Given the description of an element on the screen output the (x, y) to click on. 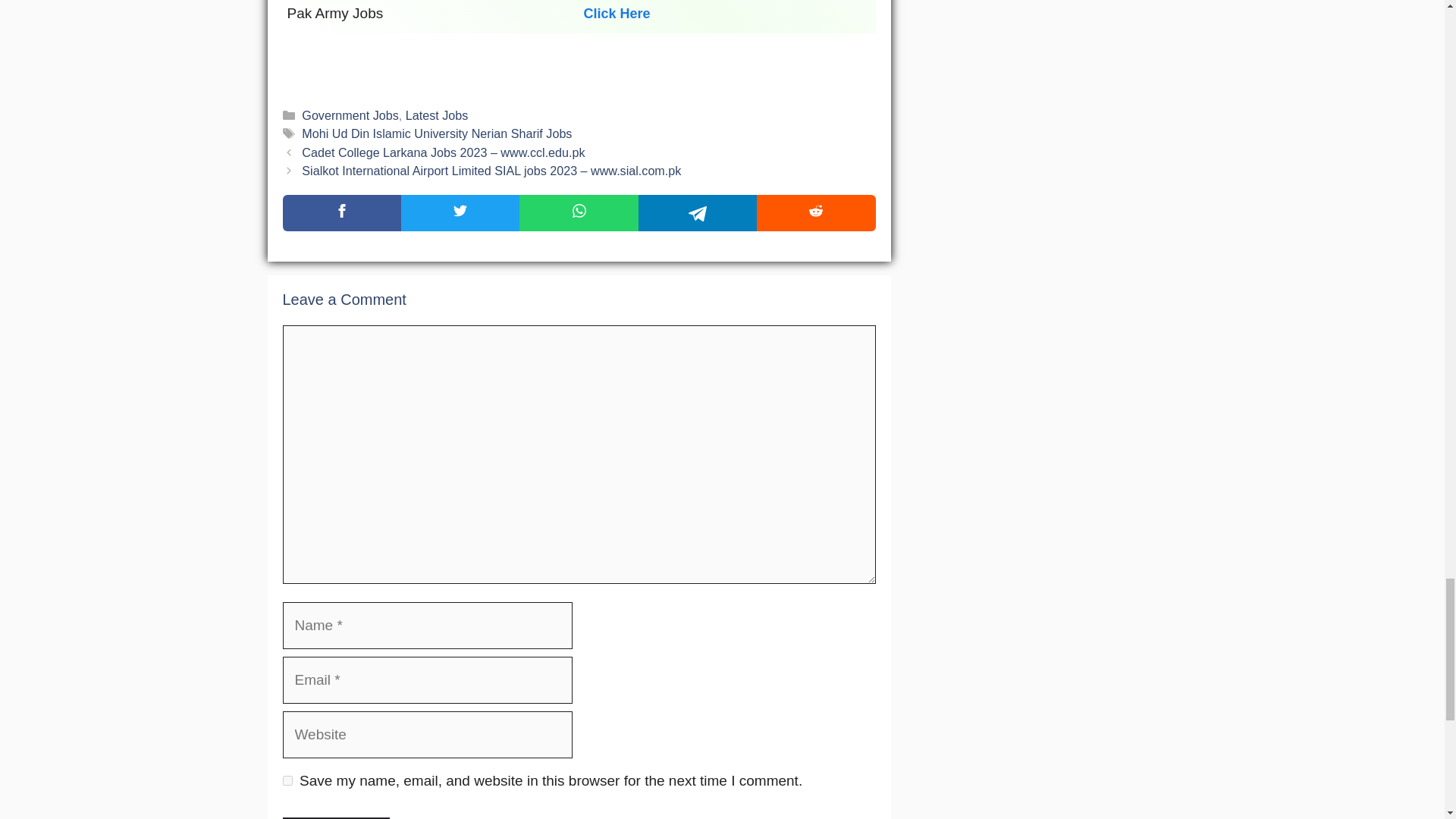
Mohi Ud Din Islamic University Nerian Sharif Jobs (436, 133)
Government Jobs (349, 115)
yes (287, 780)
Latest Jobs (437, 115)
Click Here (616, 12)
Post Comment (335, 818)
